Given the description of an element on the screen output the (x, y) to click on. 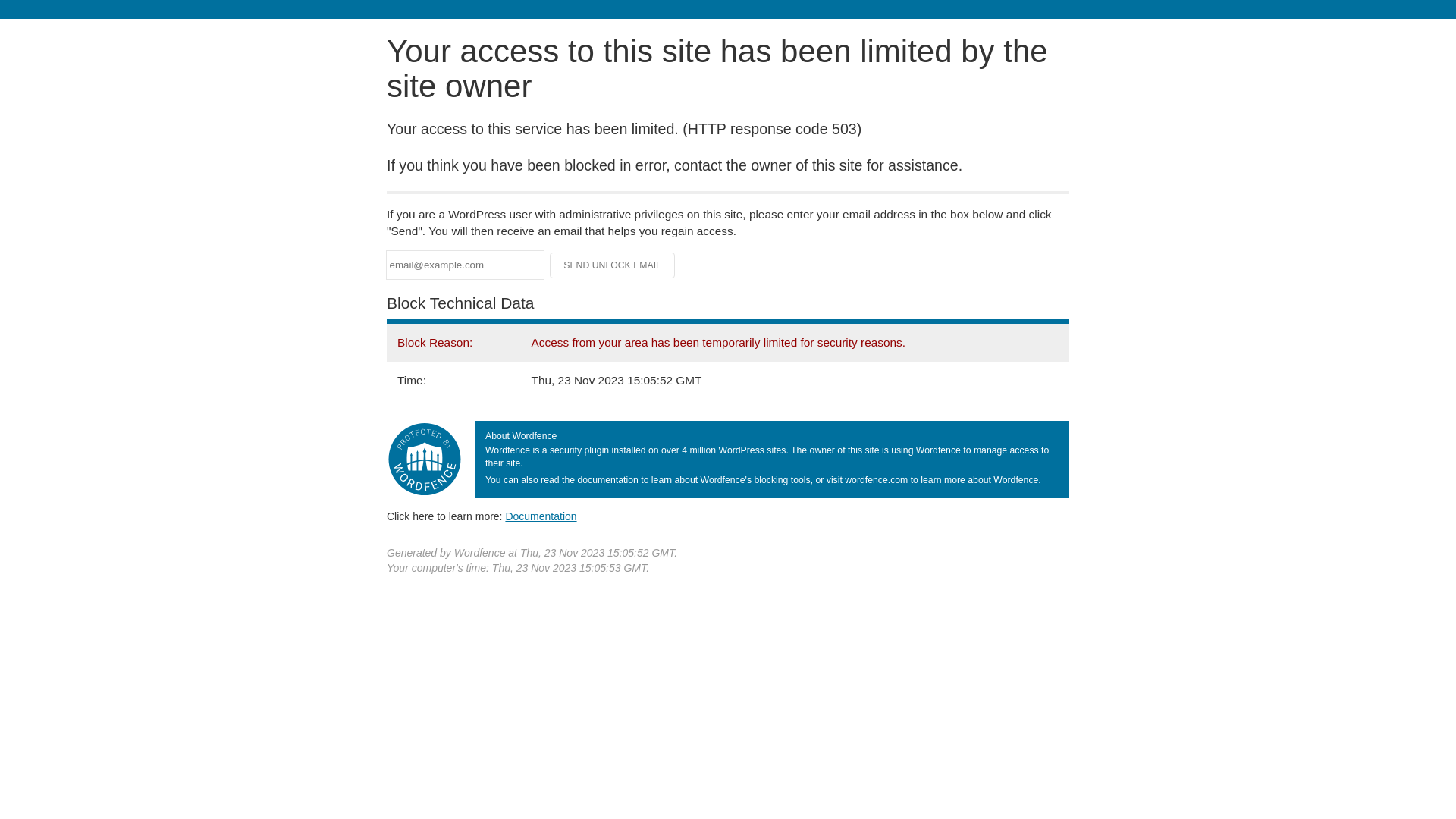
Send Unlock Email Element type: text (612, 265)
Documentation Element type: text (540, 516)
